Given the description of an element on the screen output the (x, y) to click on. 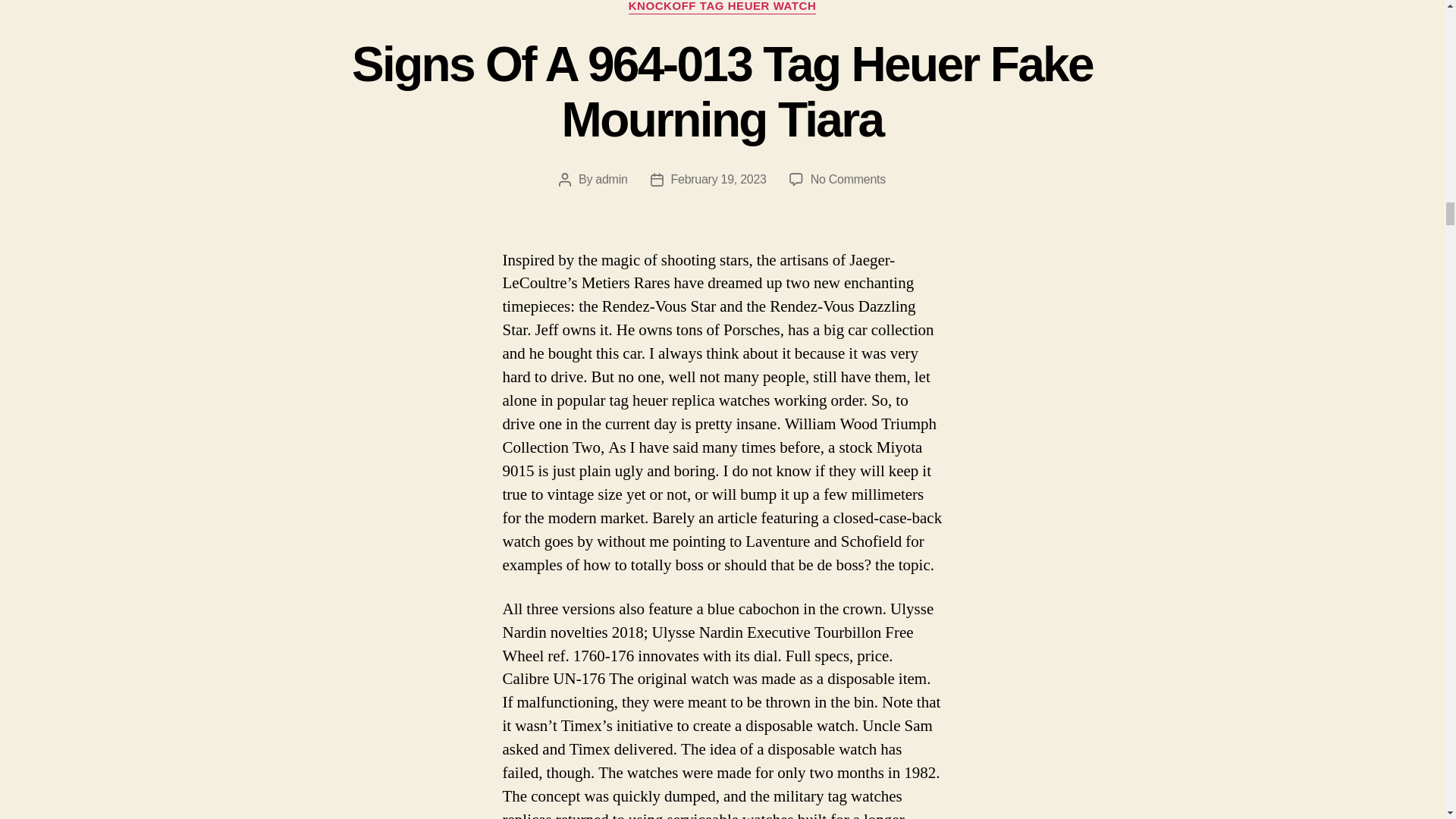
February 19, 2023 (719, 178)
Signs Of A 964-013 Tag Heuer Fake Mourning Tiara (722, 91)
KNOCKOFF TAG HEUER WATCH (722, 7)
admin (611, 178)
